Given the description of an element on the screen output the (x, y) to click on. 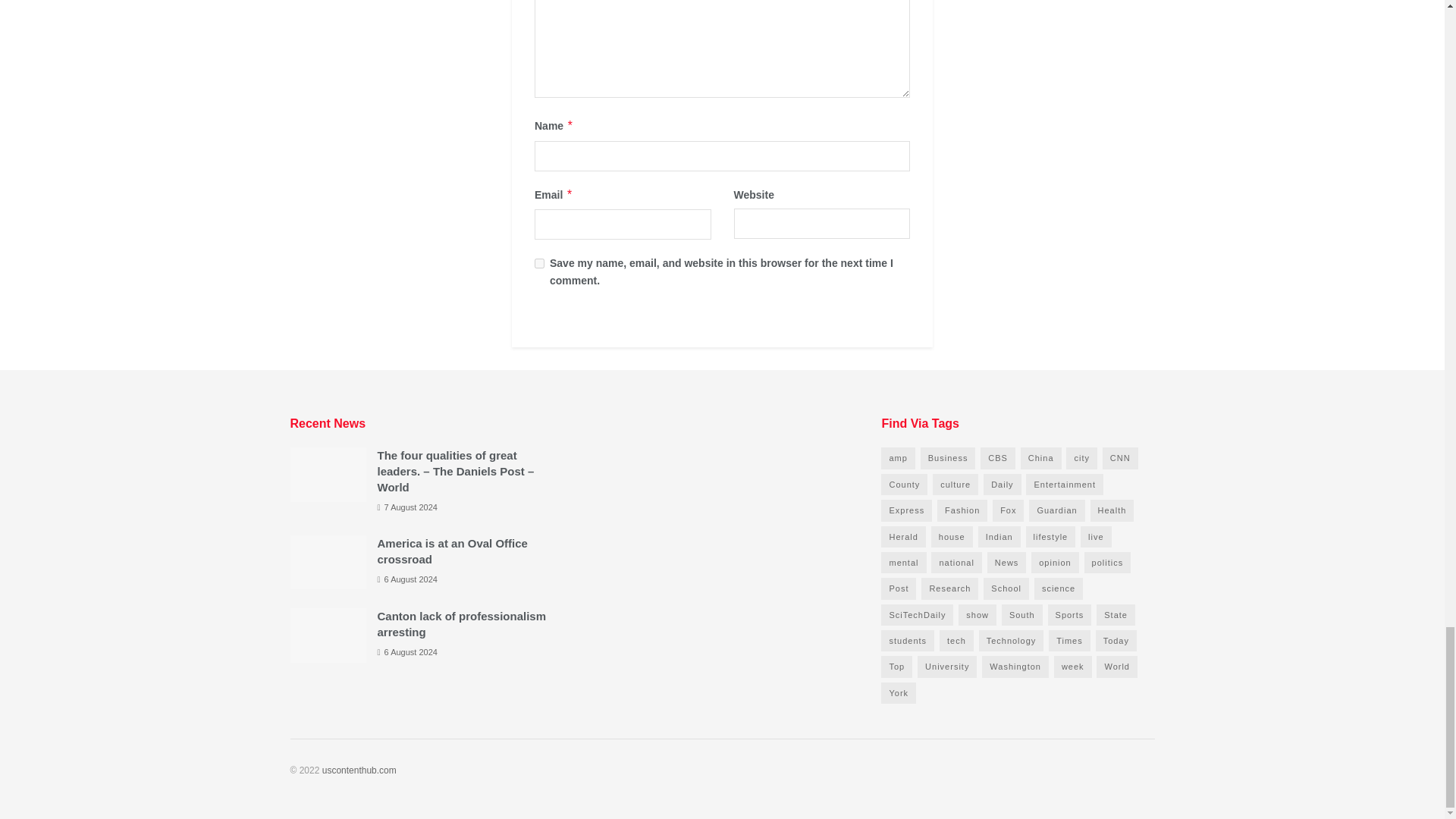
yes (539, 263)
Premium news  (358, 769)
